Given the description of an element on the screen output the (x, y) to click on. 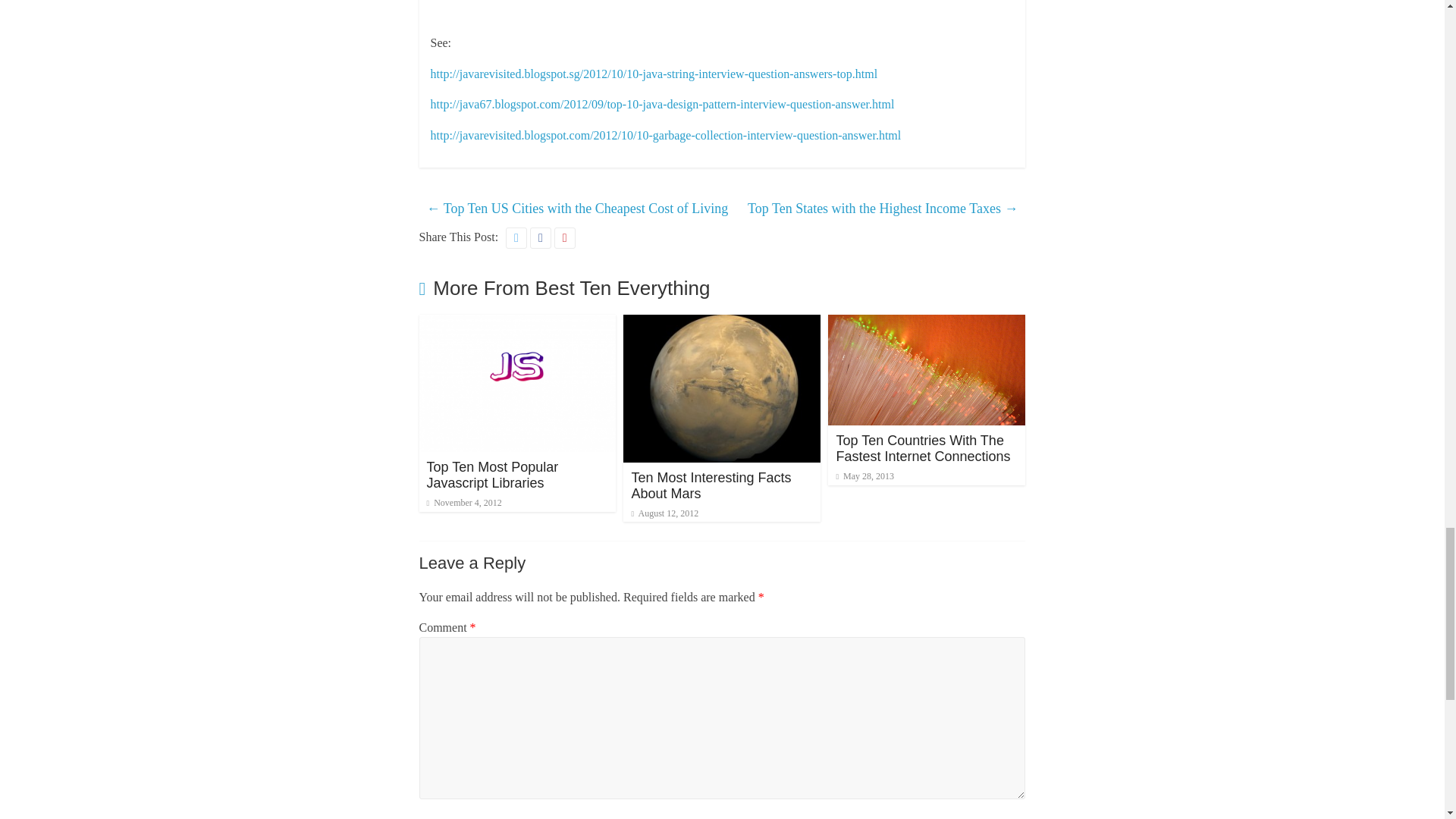
Top Ten Most Popular Javascript Libraries (491, 475)
Ten Most Interesting Facts About Mars (710, 486)
6:06 pm (864, 475)
2:15 am (463, 502)
4:30 am (664, 512)
November 4, 2012 (463, 502)
August 12, 2012 (664, 512)
Top Ten Most Popular Javascript Libraries (517, 323)
May 28, 2013 (864, 475)
Top Ten Countries With The Fastest Internet Connections (926, 323)
Top Ten Most Popular Javascript Libraries (491, 475)
Ten Most Interesting Facts About Mars (722, 323)
Top Ten Countries With The Fastest Internet Connections (922, 449)
Ten Most Interesting Facts About Mars (710, 486)
Top Ten Countries With The Fastest Internet Connections (922, 449)
